Given the description of an element on the screen output the (x, y) to click on. 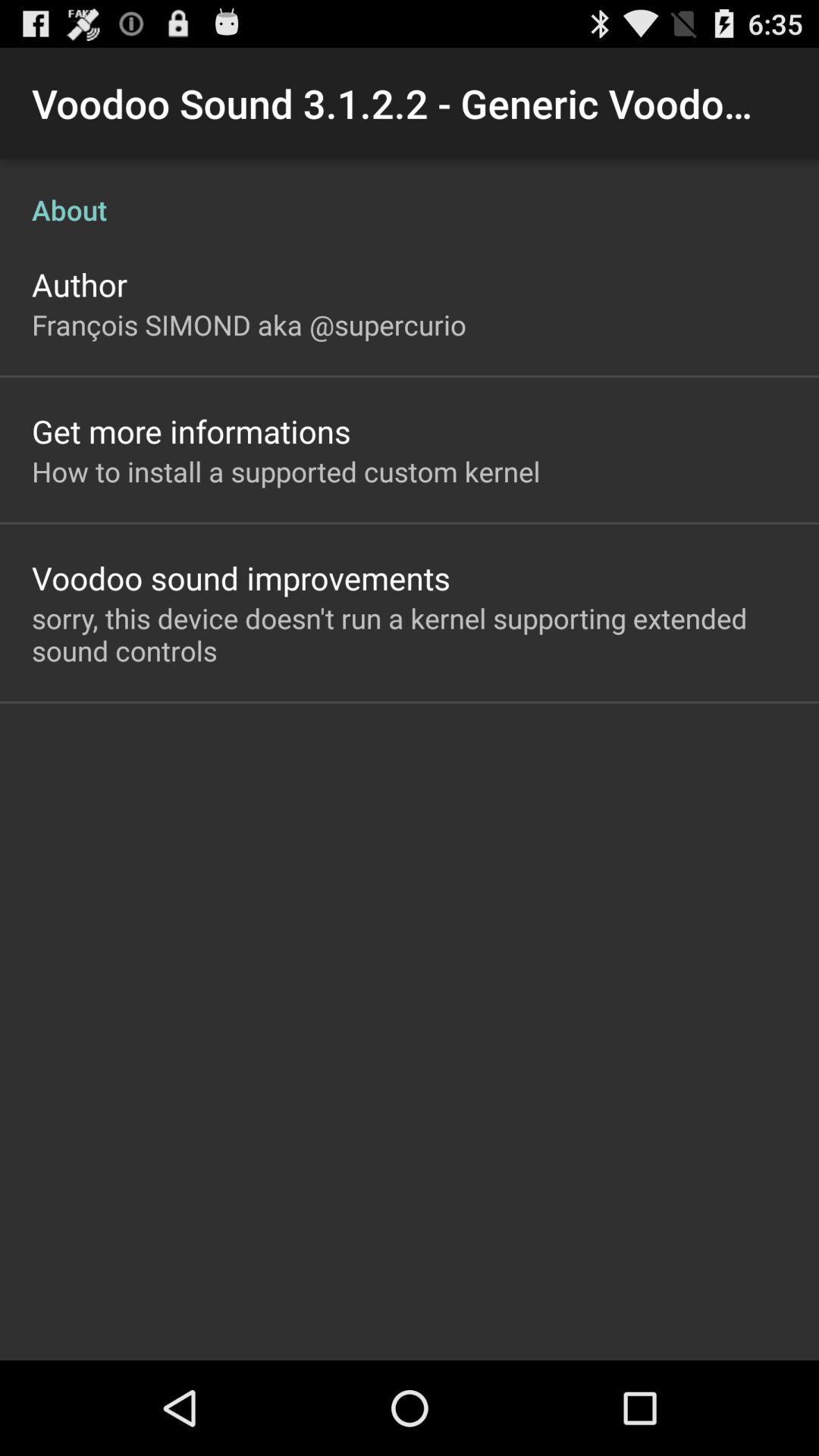
choose author app (79, 283)
